Given the description of an element on the screen output the (x, y) to click on. 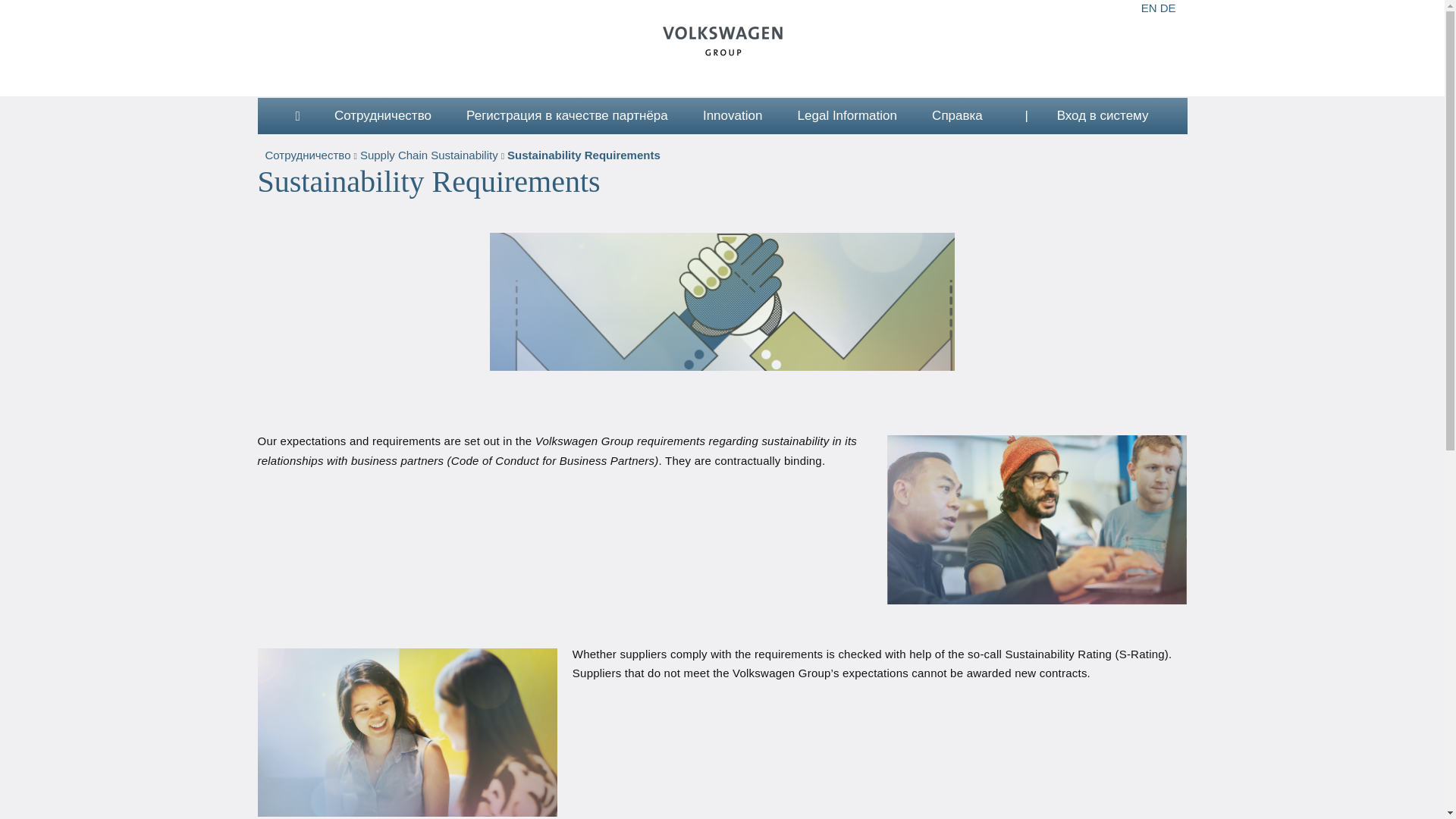
DE (1168, 7)
Supply Chain Sustainability (429, 155)
EN (1149, 7)
Innovation (732, 115)
Supply Chain Sustainability (429, 155)
Legal Information (846, 115)
